Given the description of an element on the screen output the (x, y) to click on. 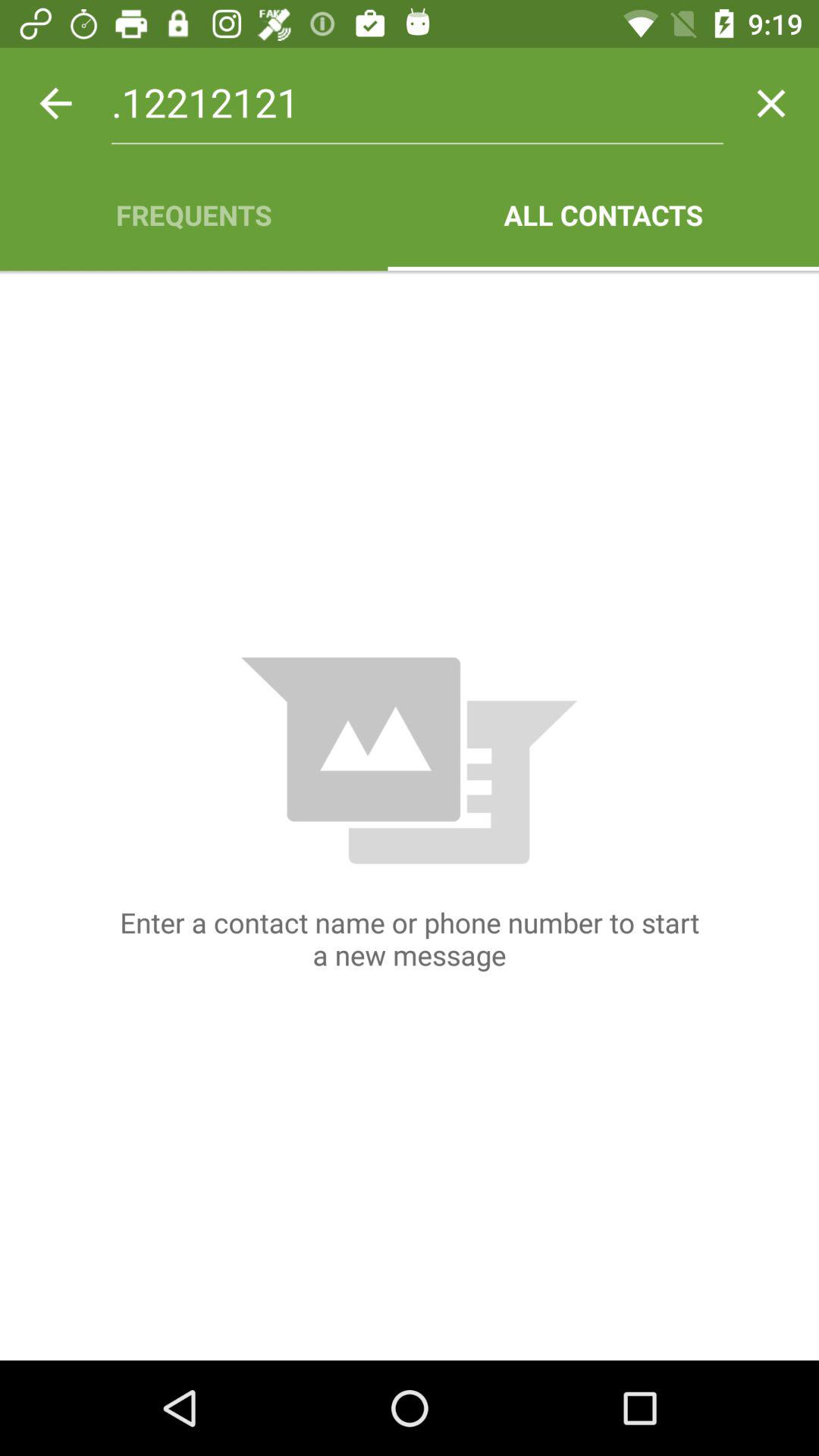
click icon next to .12212121 (55, 103)
